Given the description of an element on the screen output the (x, y) to click on. 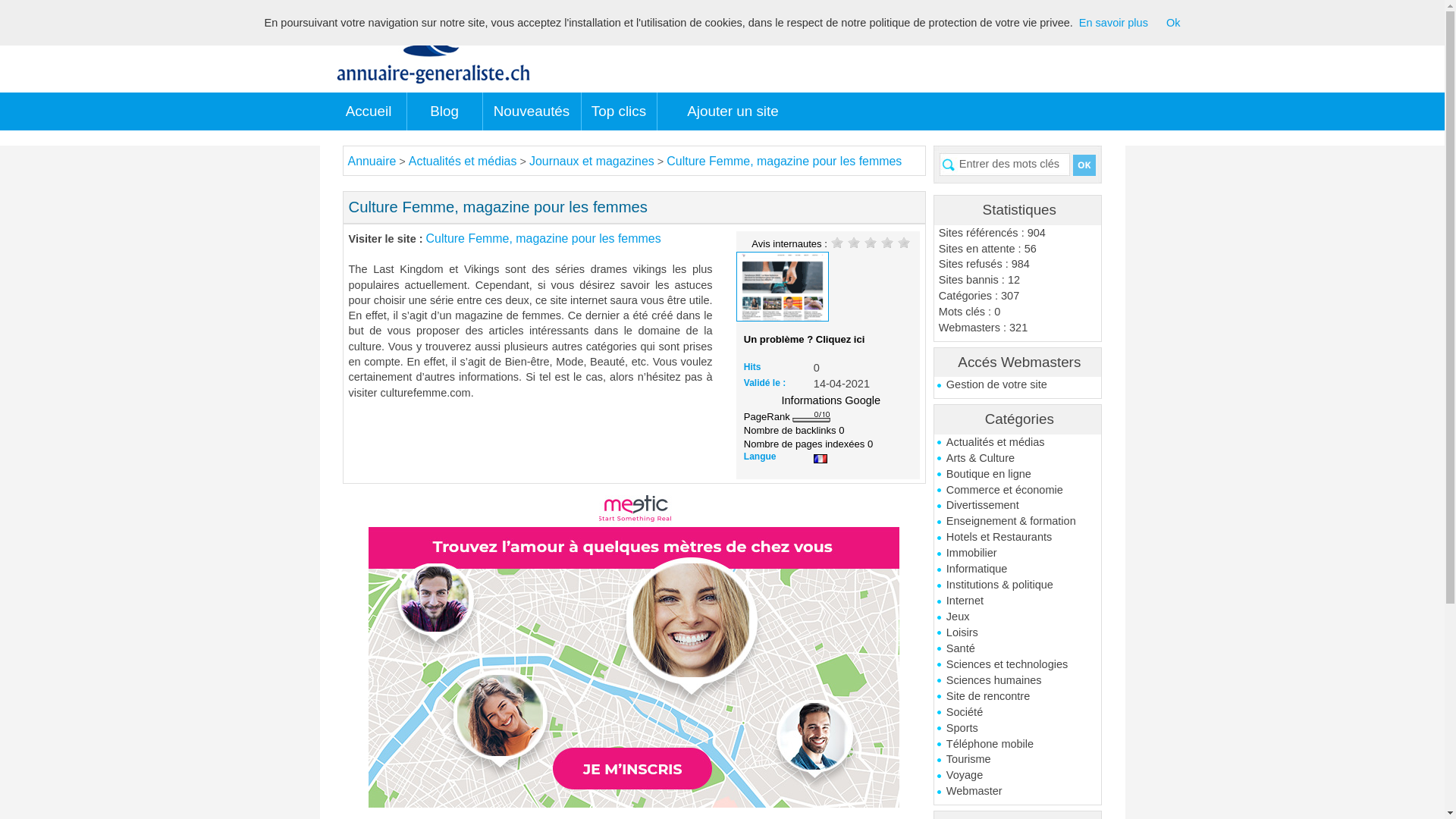
Immobilier Element type: text (1017, 553)
En savoir plus Element type: text (1113, 22)
Institutions & politique Element type: text (1017, 585)
Annuaire Element type: text (371, 160)
Culture Femme, magazine pour les femmes Element type: text (543, 238)
Journaux et magazines Element type: text (591, 160)
Sports Element type: text (1017, 728)
4 Element type: text (887, 241)
1 Element type: text (837, 241)
2 Element type: text (853, 241)
Webmaster Element type: text (1017, 791)
Internet Element type: text (1017, 600)
Sciences et technologies Element type: text (1017, 664)
3 Element type: text (870, 241)
Enseignement & formation Element type: text (1017, 521)
Culture Femme, magazine pour les femmes Element type: text (783, 160)
Tourisme Element type: text (1017, 759)
Arts & Culture Element type: text (1017, 458)
Hotels et Restaurants Element type: text (1017, 537)
Voyage Element type: text (1017, 775)
Jeux Element type: text (1017, 616)
Loisirs Element type: text (1017, 632)
Divertissement Element type: text (1017, 505)
Gestion de votre site Element type: text (1017, 384)
Site de rencontre Element type: text (1017, 696)
Top clics Element type: text (617, 111)
Ok Element type: text (1173, 22)
Accueil Element type: text (367, 111)
Boutique en ligne Element type: text (1017, 474)
Informatique Element type: text (1017, 569)
Sciences humaines Element type: text (1017, 680)
Blog Element type: text (443, 111)
5 Element type: text (903, 241)
Ajouter un site Element type: text (732, 111)
